Given the description of an element on the screen output the (x, y) to click on. 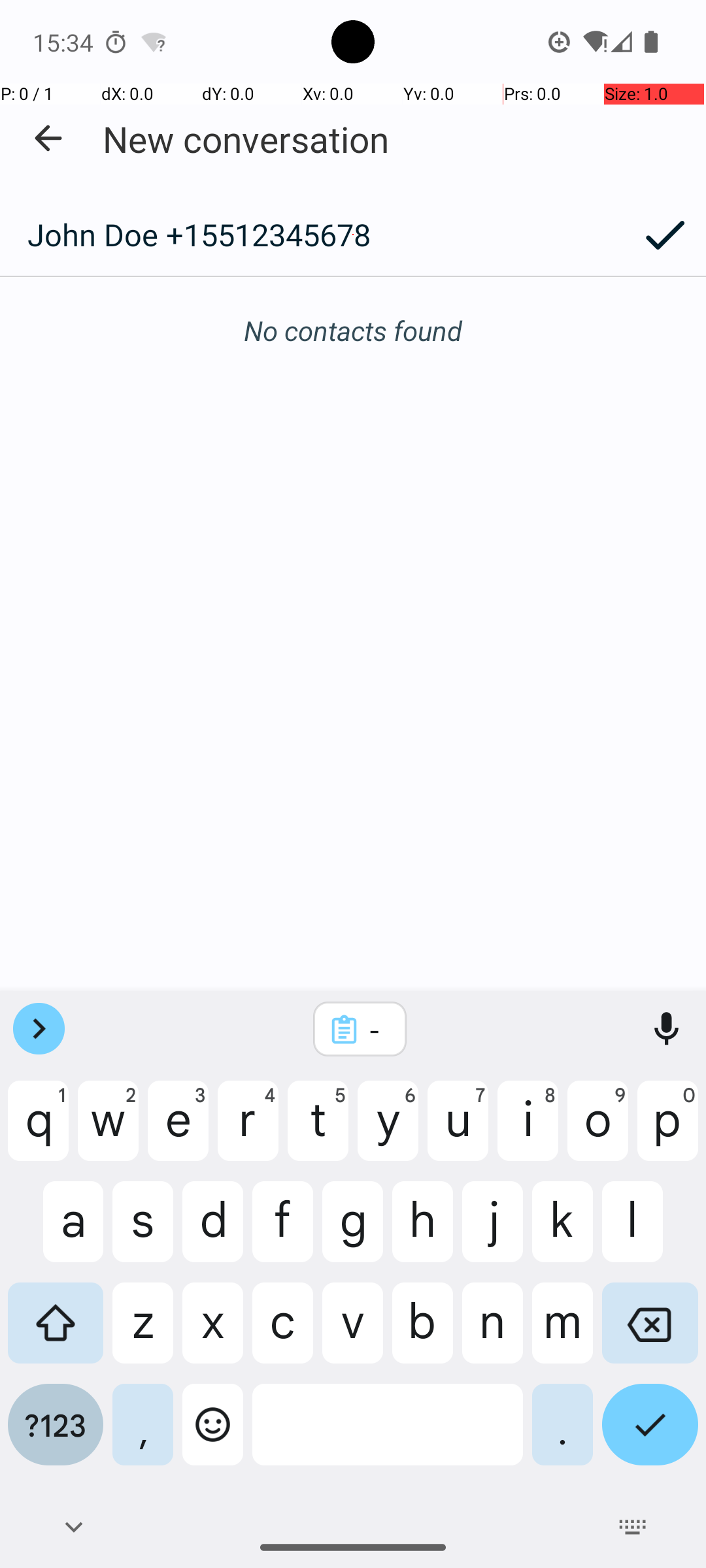
John Doe +15512345678 Element type: android.widget.EditText (311, 234)
